Given the description of an element on the screen output the (x, y) to click on. 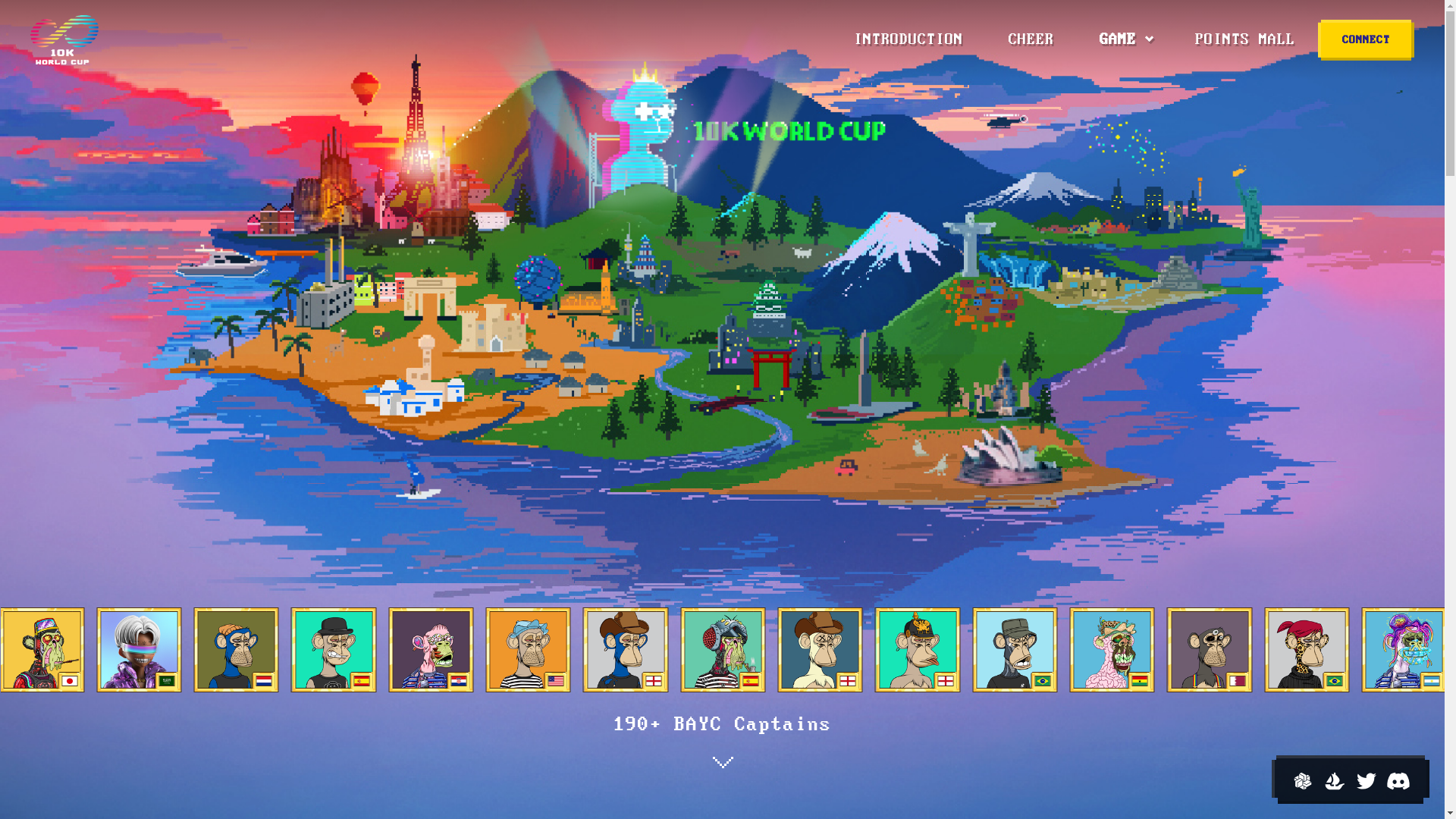
INTRODUCTION Element type: text (908, 39)
POINTS MALL Element type: text (1245, 39)
CHEER Element type: text (1031, 39)
190+ BAYC Captains Element type: text (722, 739)
